Given the description of an element on the screen output the (x, y) to click on. 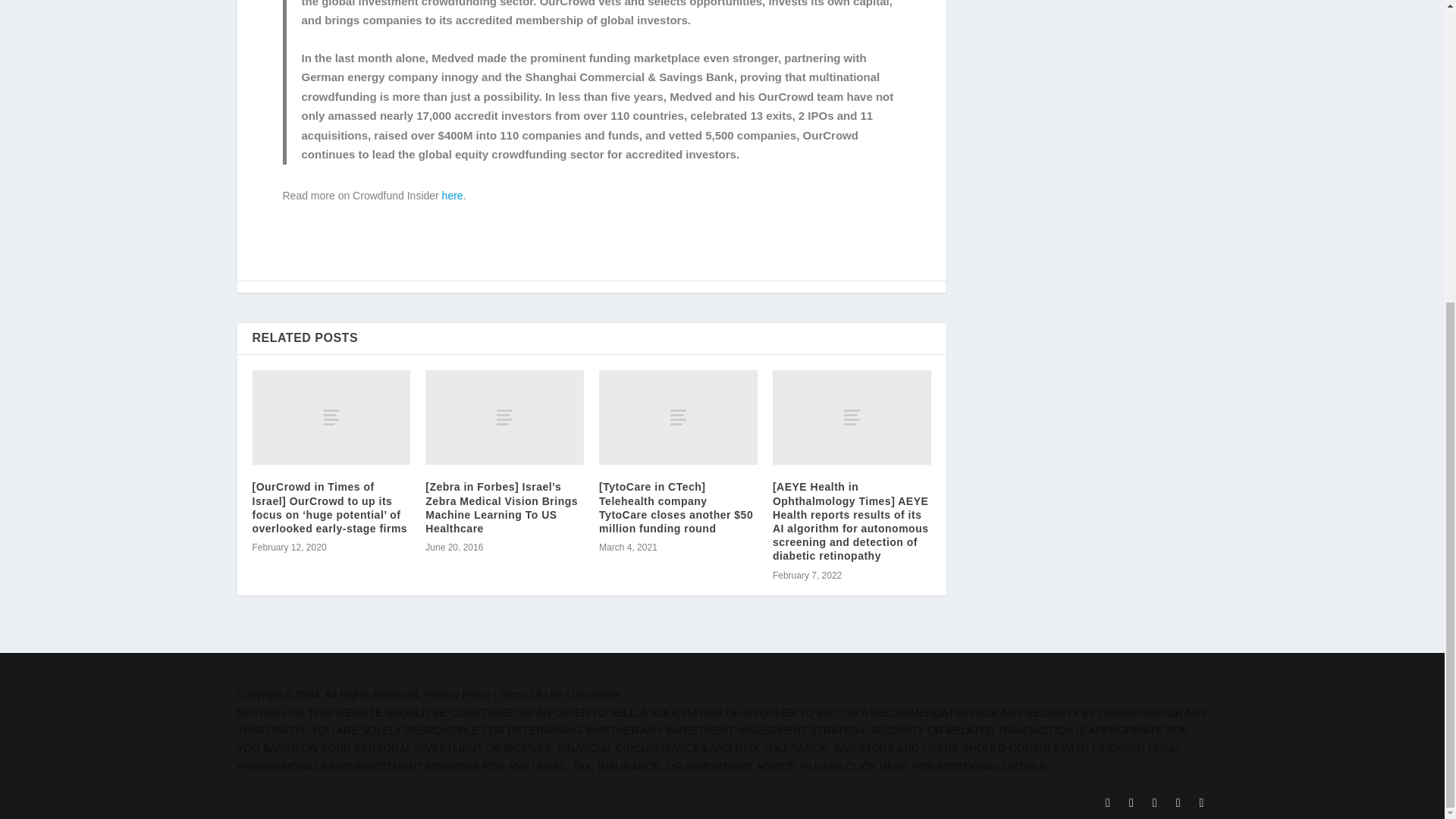
here (452, 195)
